Given the description of an element on the screen output the (x, y) to click on. 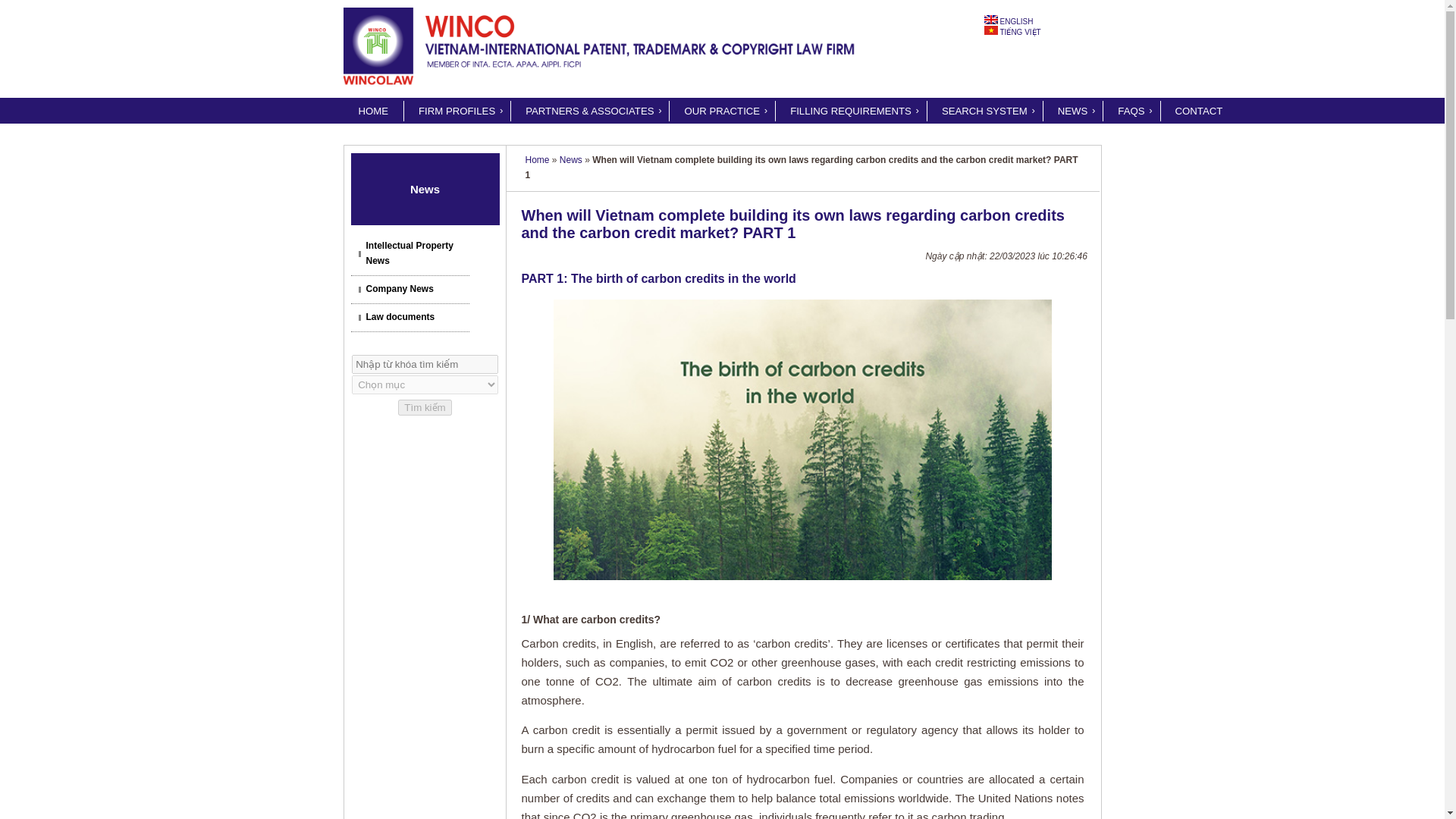
HOME (372, 110)
FIRM PROFILES (457, 110)
